Given the description of an element on the screen output the (x, y) to click on. 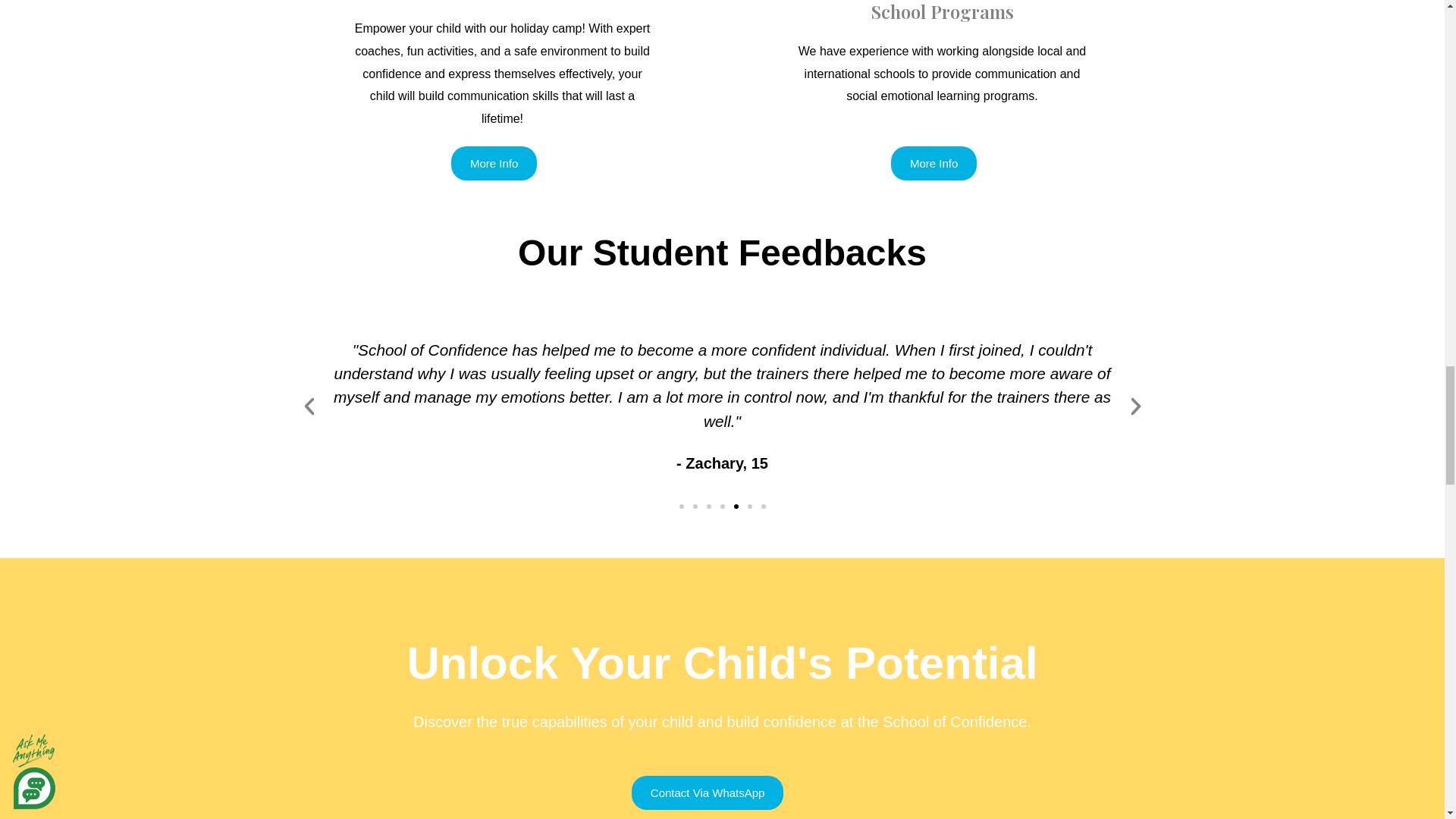
More Info (494, 163)
More Info (933, 163)
